Given the description of an element on the screen output the (x, y) to click on. 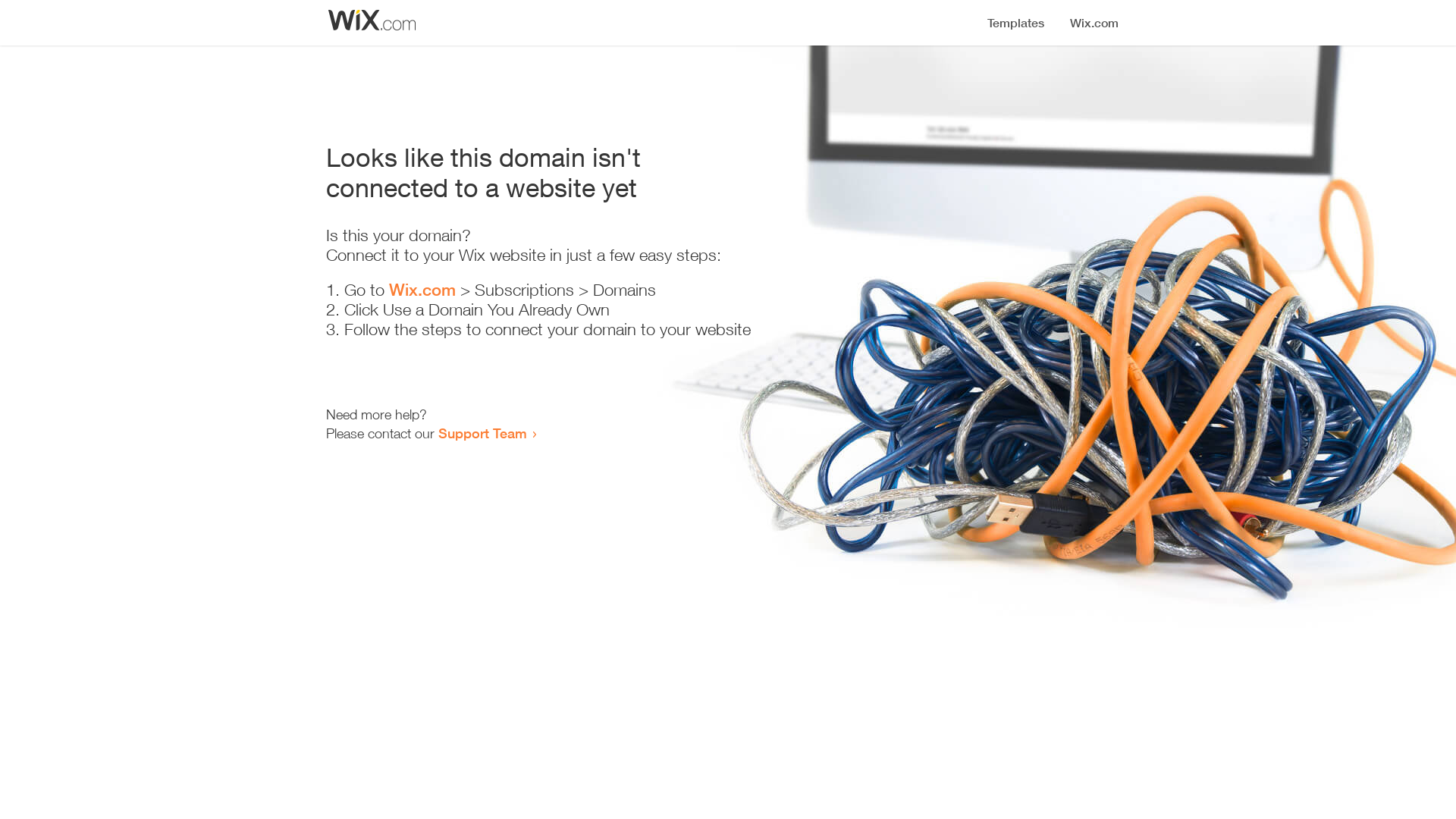
Support Team Element type: text (482, 432)
Wix.com Element type: text (422, 289)
